Given the description of an element on the screen output the (x, y) to click on. 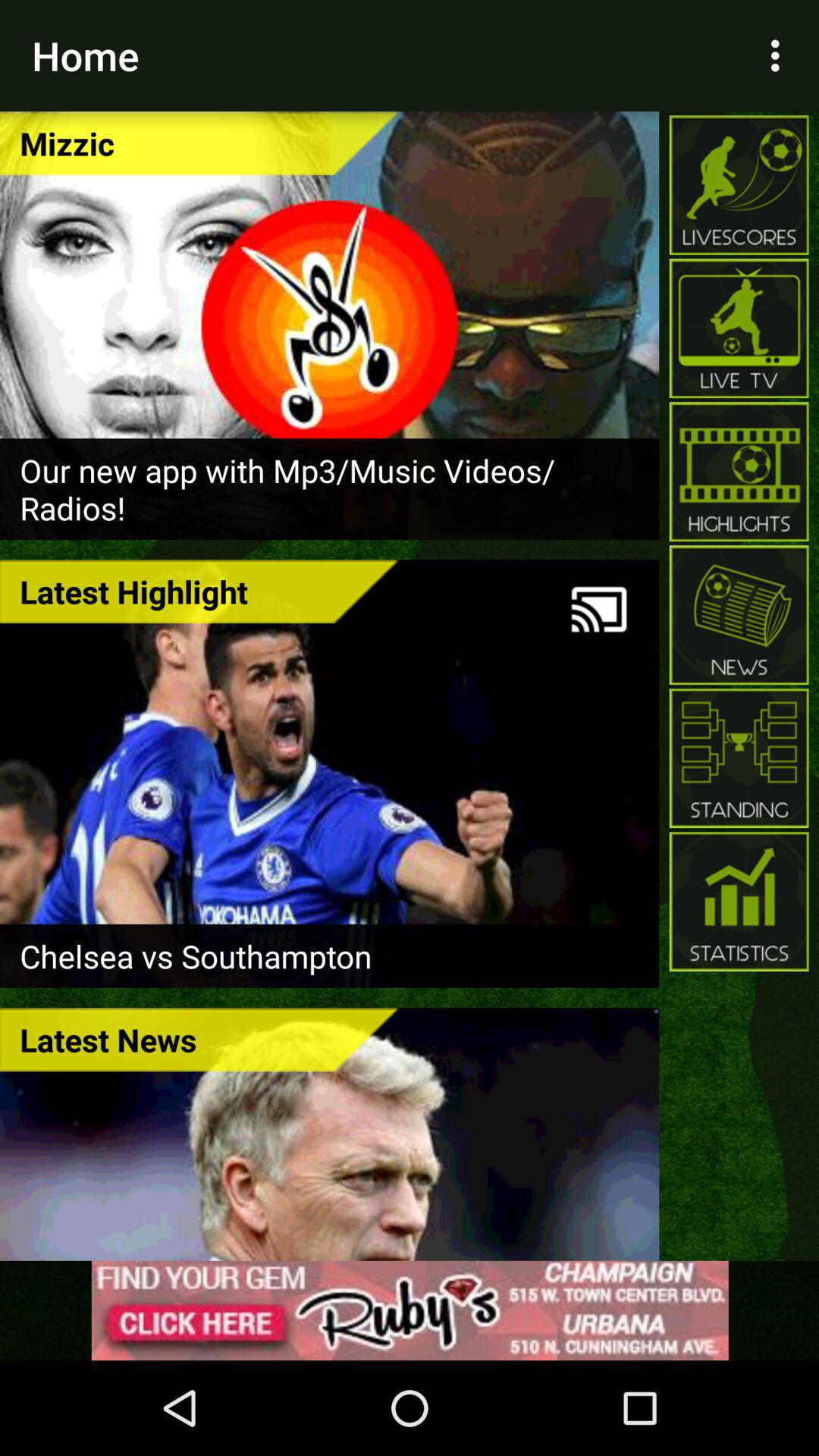
turn off icon above our new app icon (199, 143)
